Given the description of an element on the screen output the (x, y) to click on. 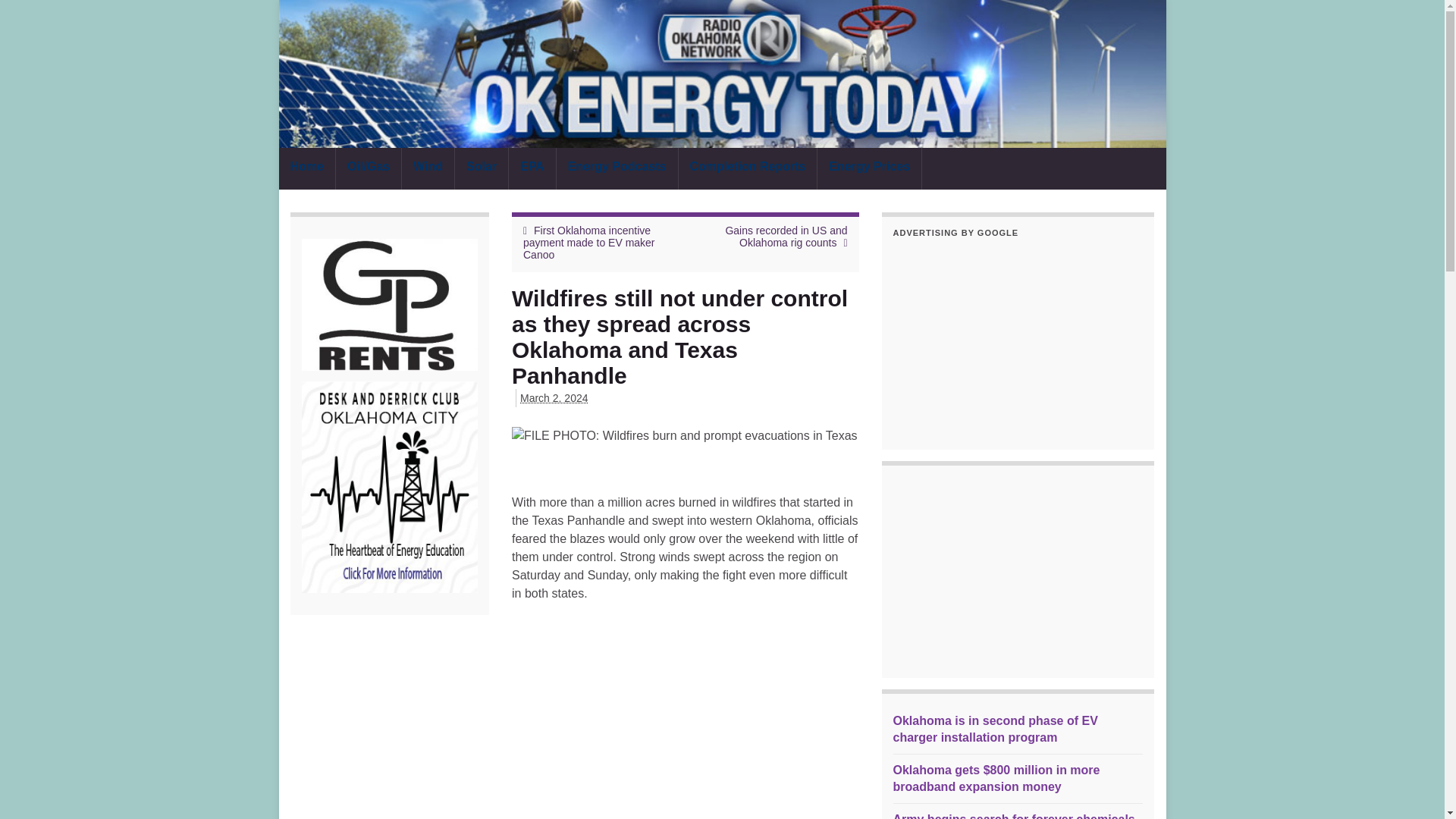
Energy Podcasts (617, 168)
Wind (427, 168)
Advertisement (1017, 343)
Energy Prices (868, 168)
Home (306, 168)
Go back to the front page (722, 74)
Solar (481, 168)
Advertisement (685, 708)
Advertisement (1017, 571)
Completion Reports (747, 168)
EPA (532, 168)
Gains recorded in US and Oklahoma rig counts (786, 236)
First Oklahoma incentive payment made to EV maker Canoo (588, 242)
